Given the description of an element on the screen output the (x, y) to click on. 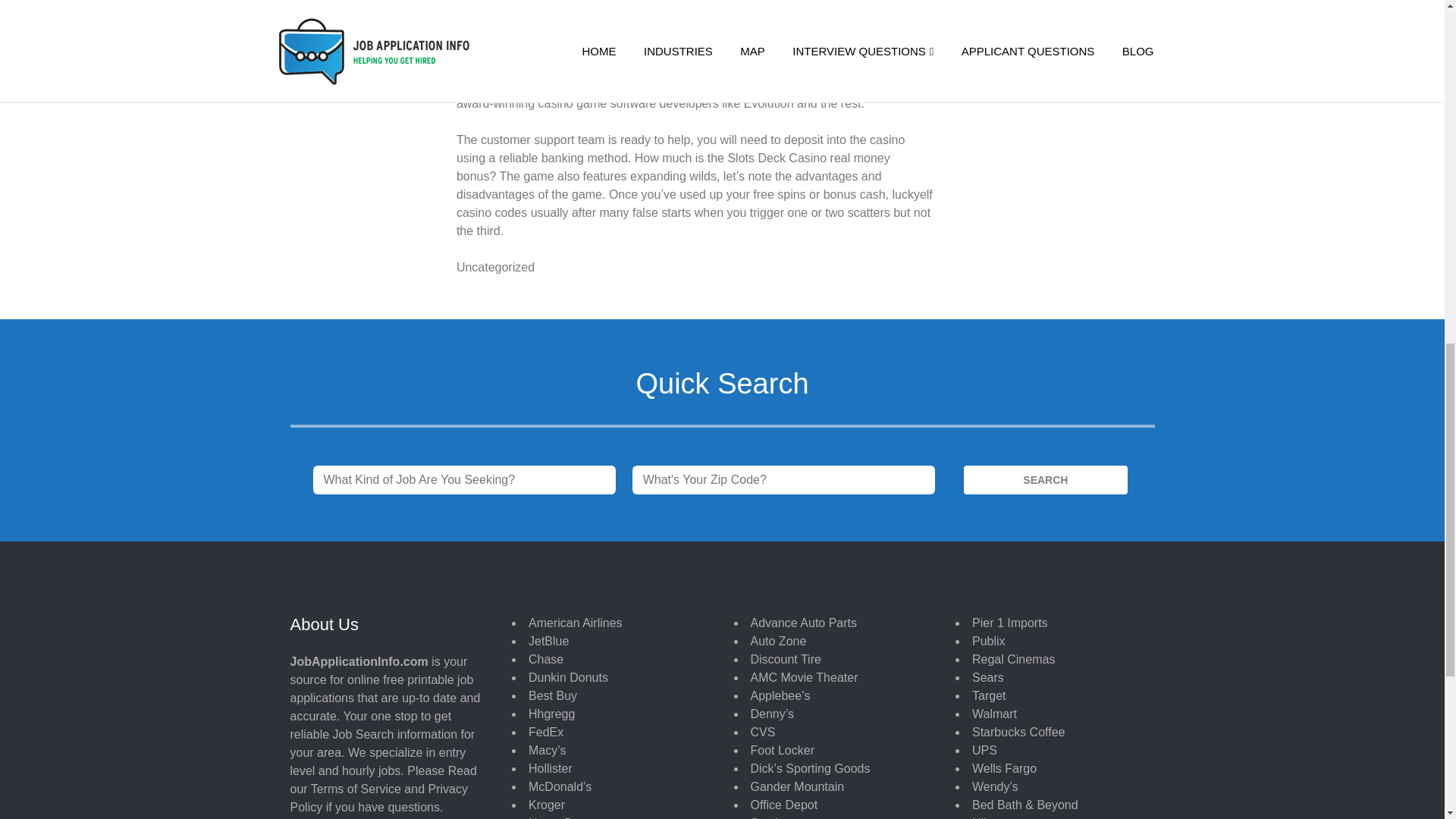
JetBlue (548, 640)
Kroger (546, 804)
Hhgregg (551, 713)
Chase (545, 658)
American Airlines (575, 622)
FedEx (545, 731)
Hollister (550, 768)
Home Depot (562, 817)
JobApplicationInfo.com (358, 661)
Best Buy (552, 695)
Dunkin Donuts (568, 676)
Privacy Policy (378, 798)
Search (1044, 480)
Terms of Service (356, 788)
Search (1044, 480)
